Given the description of an element on the screen output the (x, y) to click on. 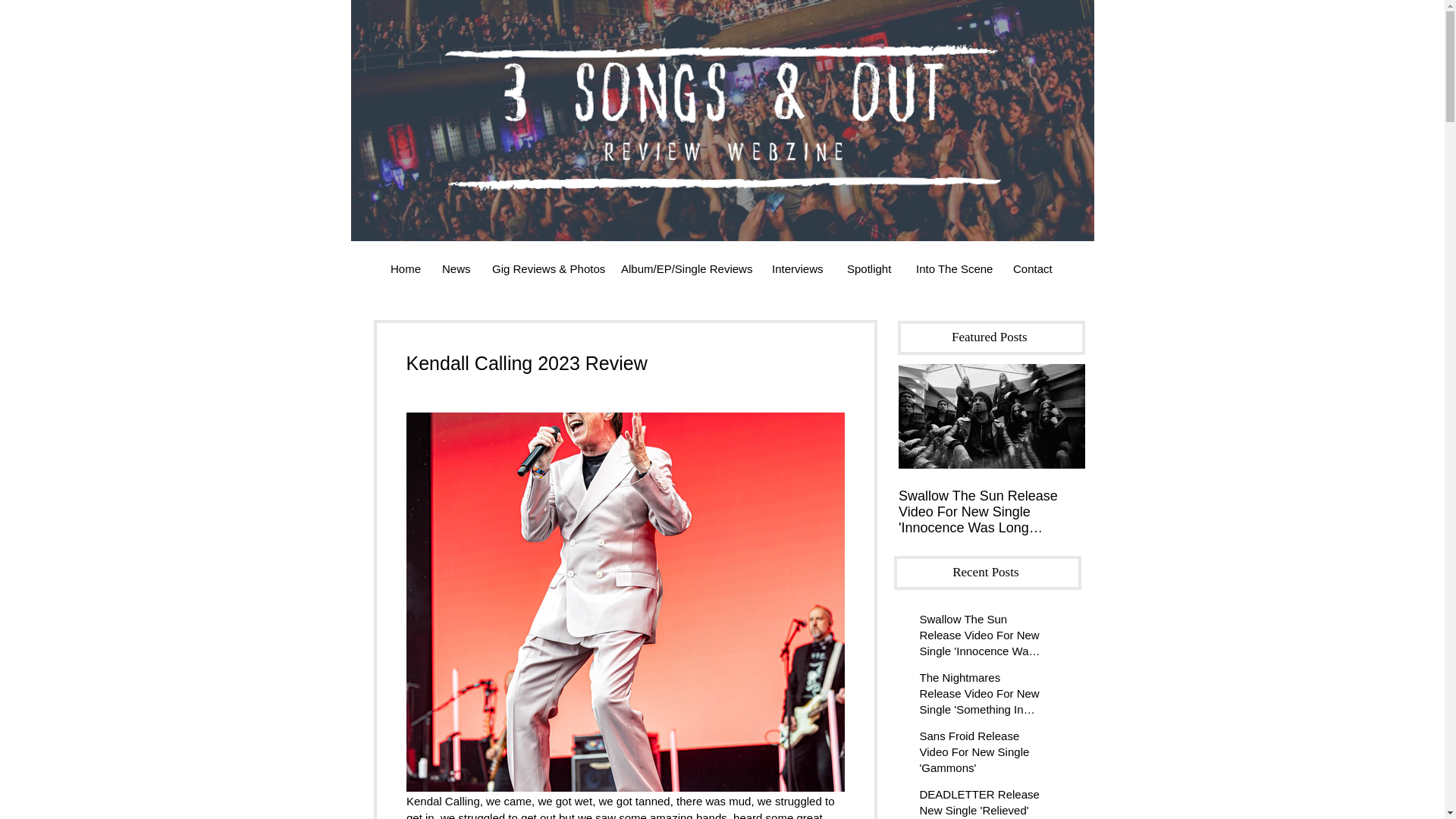
News (455, 268)
Interviews (797, 268)
Spotlight (869, 268)
DEADLETTER Release New Single 'Relieved' (980, 802)
Into The Scene (952, 268)
Contact (1032, 268)
Home (404, 268)
Sans Froid Release Video For New Single 'Gammons' (980, 755)
